Given the description of an element on the screen output the (x, y) to click on. 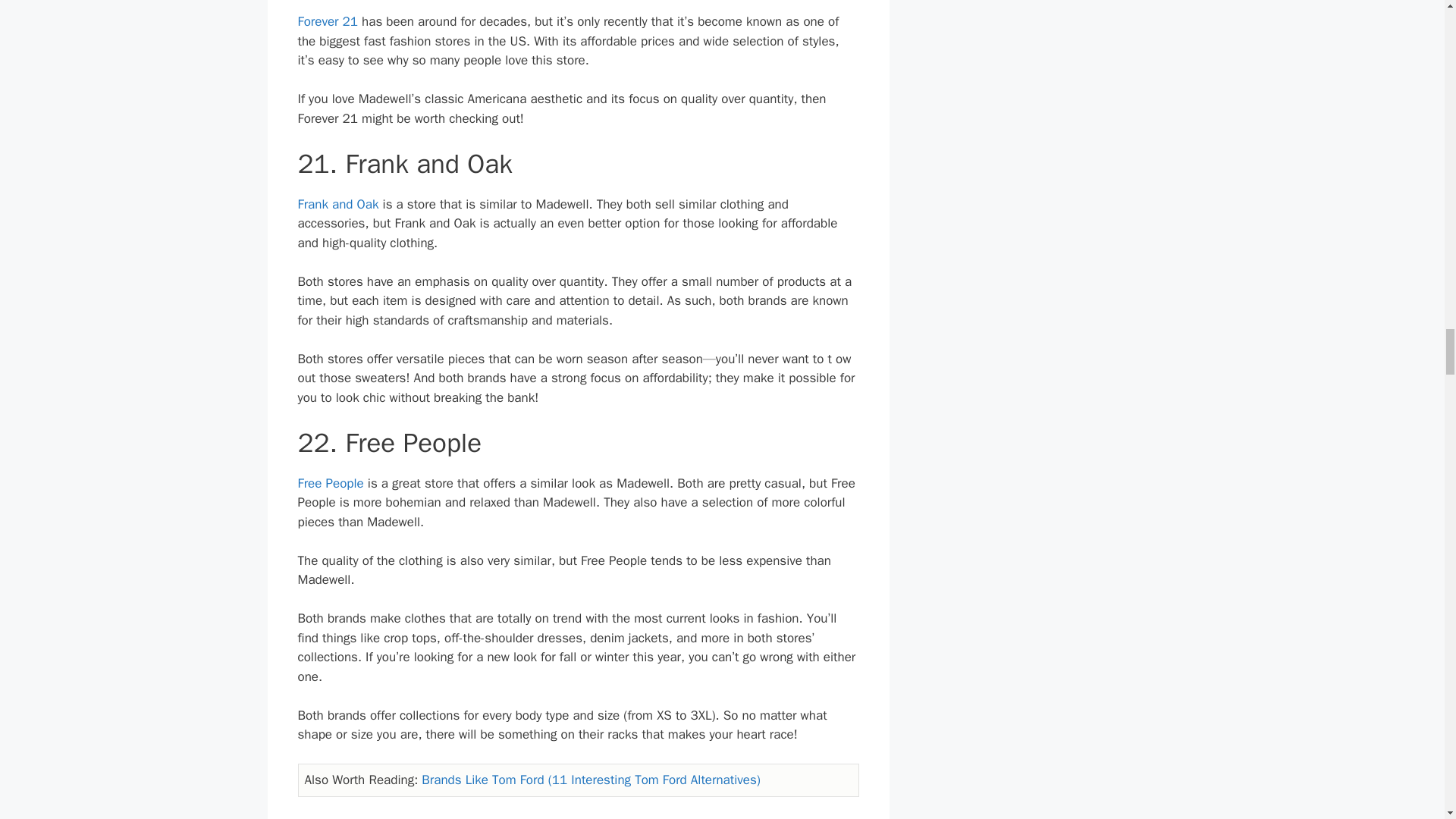
Free People (329, 483)
Frank and Oak (337, 204)
Forever 21 (326, 21)
